Given the description of an element on the screen output the (x, y) to click on. 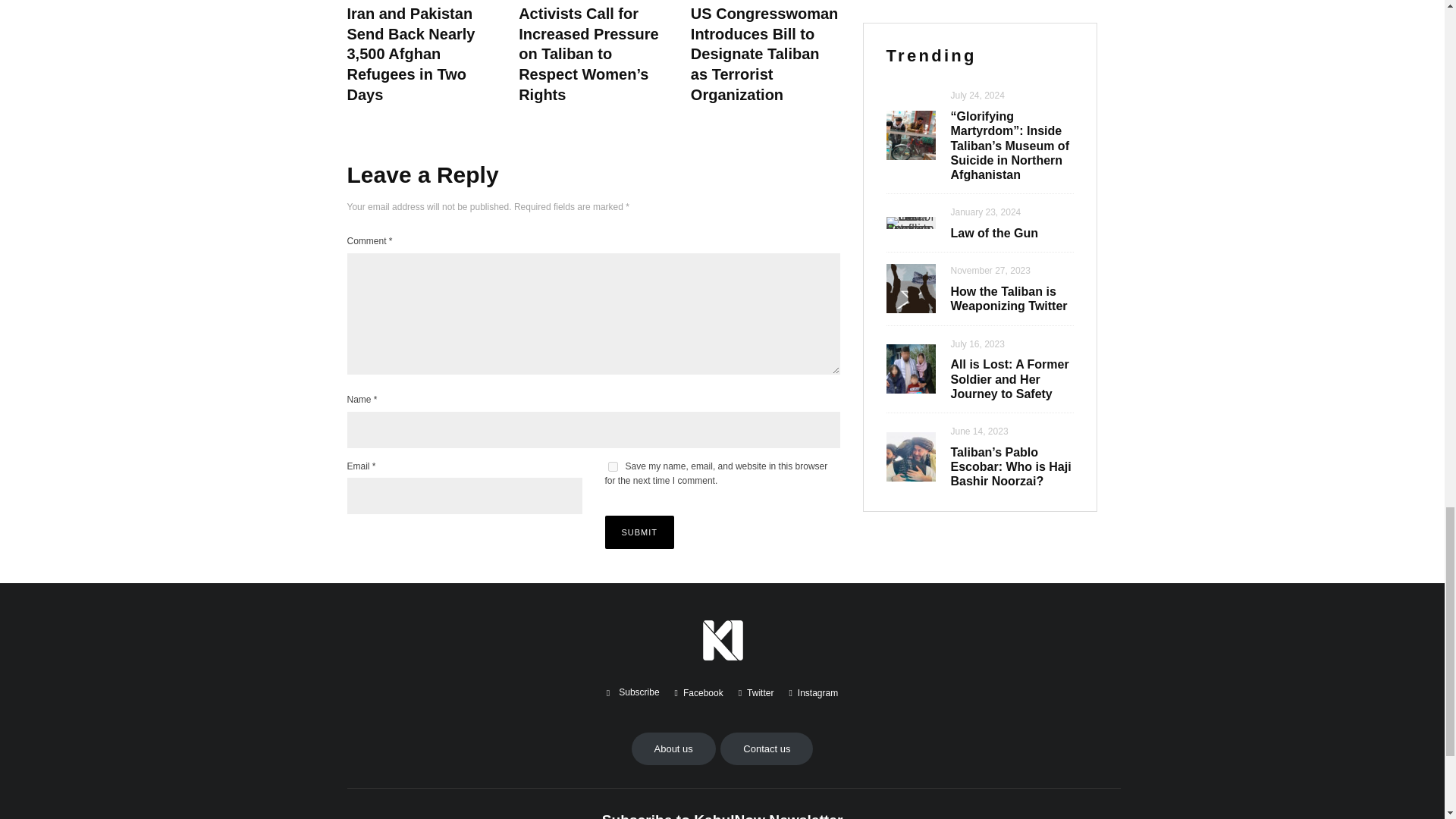
Submit (640, 531)
yes (612, 466)
